Given the description of an element on the screen output the (x, y) to click on. 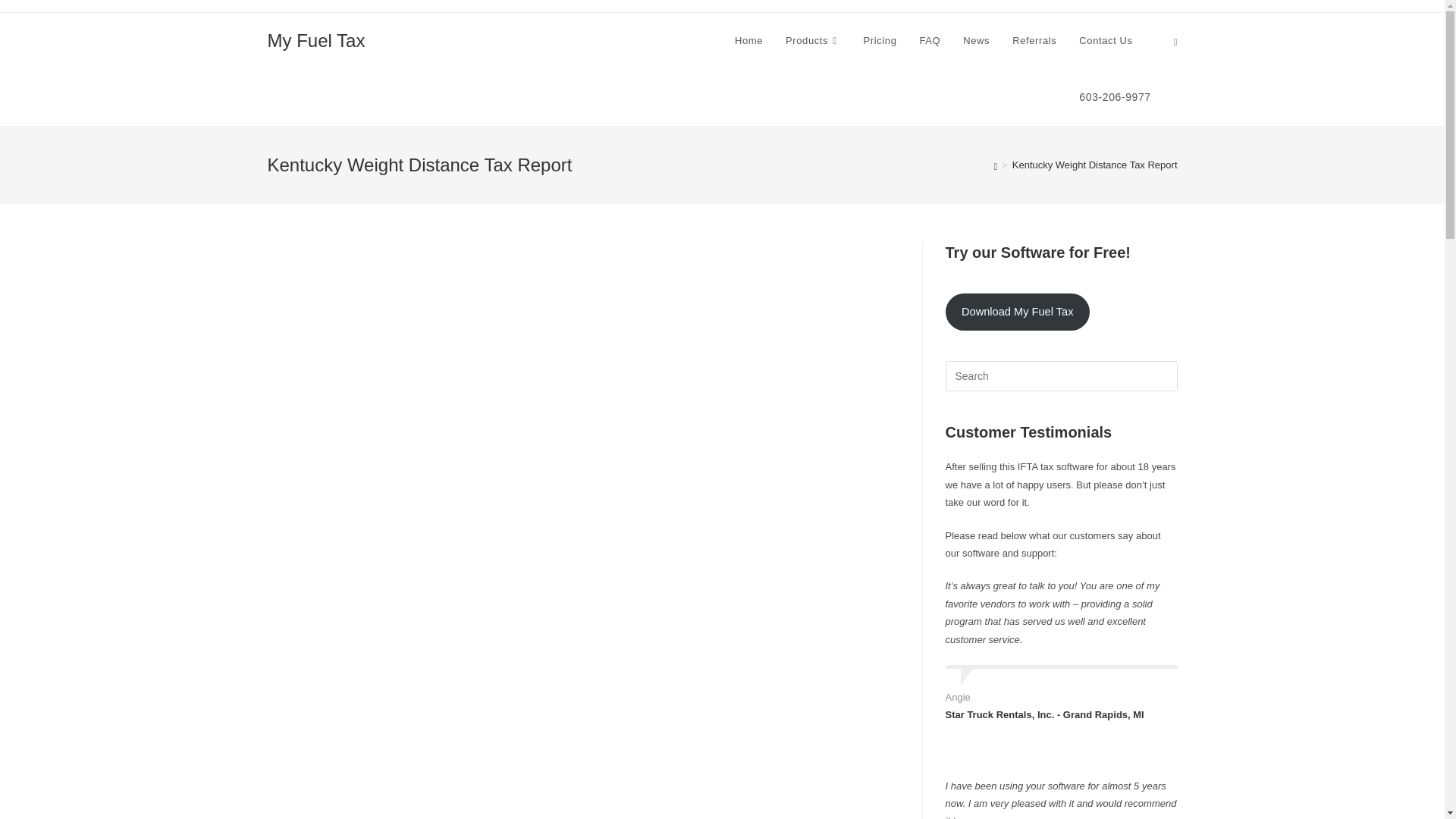
Referrals (1034, 40)
Star Truck Rentals, Inc. - Grand Rapids, MI (1043, 714)
My Fuel Tax (315, 40)
Download My Fuel Tax (1016, 312)
Pricing (879, 40)
Products (812, 40)
Kentucky Weight Distance Tax Report (1094, 164)
Home (748, 40)
